Given the description of an element on the screen output the (x, y) to click on. 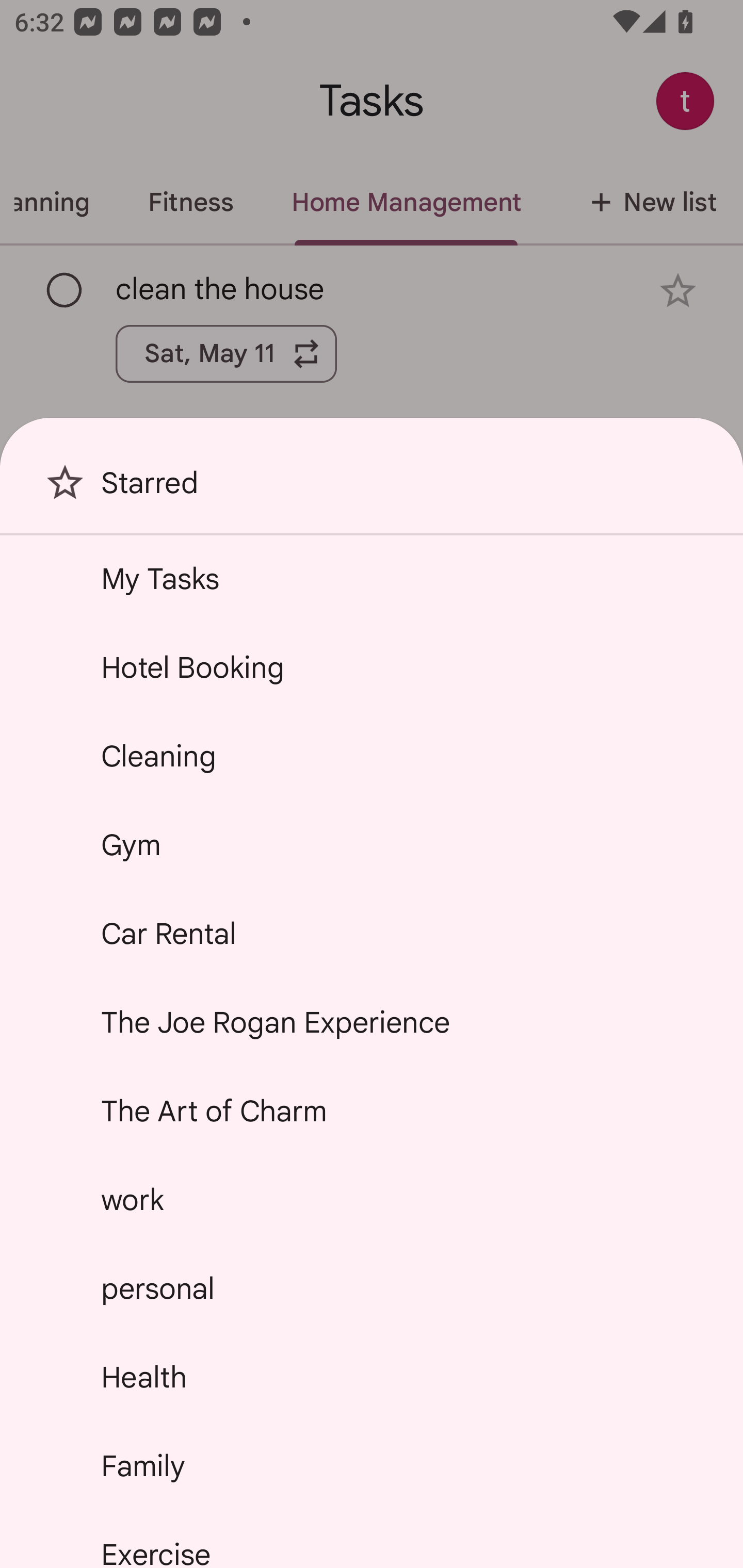
Starred (371, 489)
My Tasks (371, 578)
Hotel Booking (371, 667)
Cleaning (371, 756)
Gym (371, 844)
Car Rental (371, 933)
The Joe Rogan Experience (371, 1022)
The Art of Charm (371, 1110)
work (371, 1200)
personal (371, 1287)
Health (371, 1377)
Family (371, 1465)
Exercise (371, 1539)
